Given the description of an element on the screen output the (x, y) to click on. 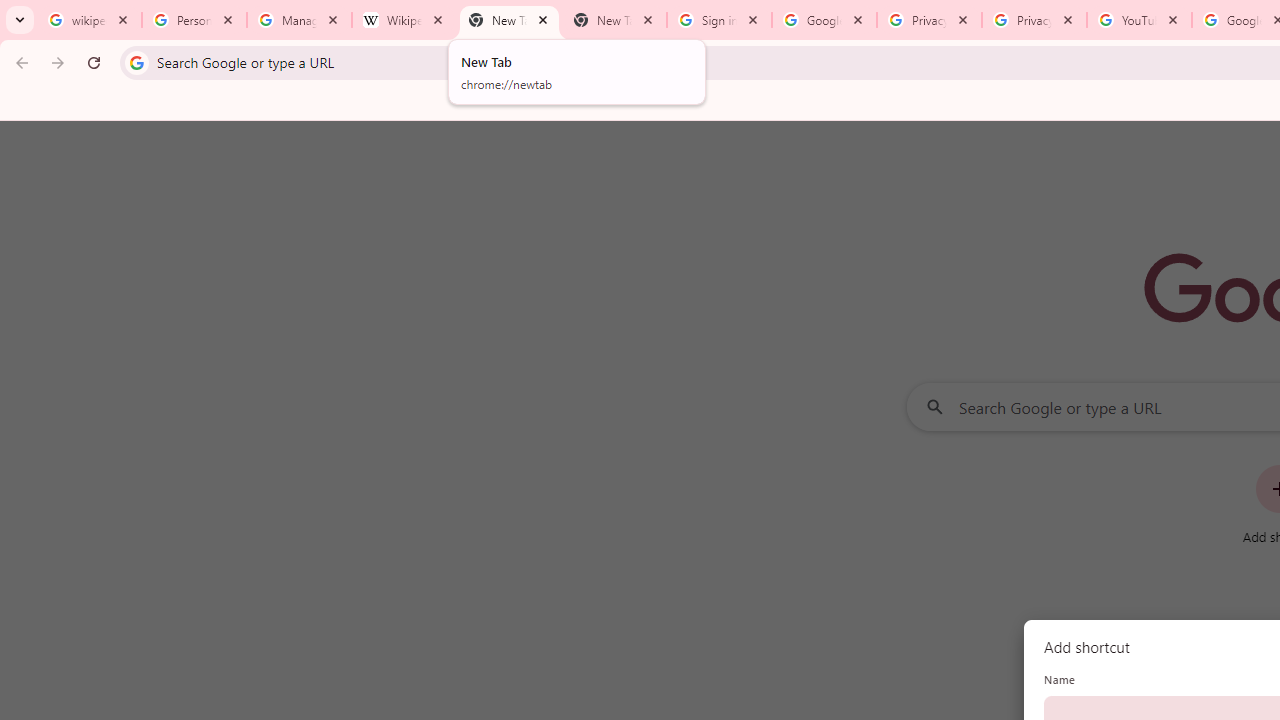
Google Drive: Sign-in (823, 20)
